Given the description of an element on the screen output the (x, y) to click on. 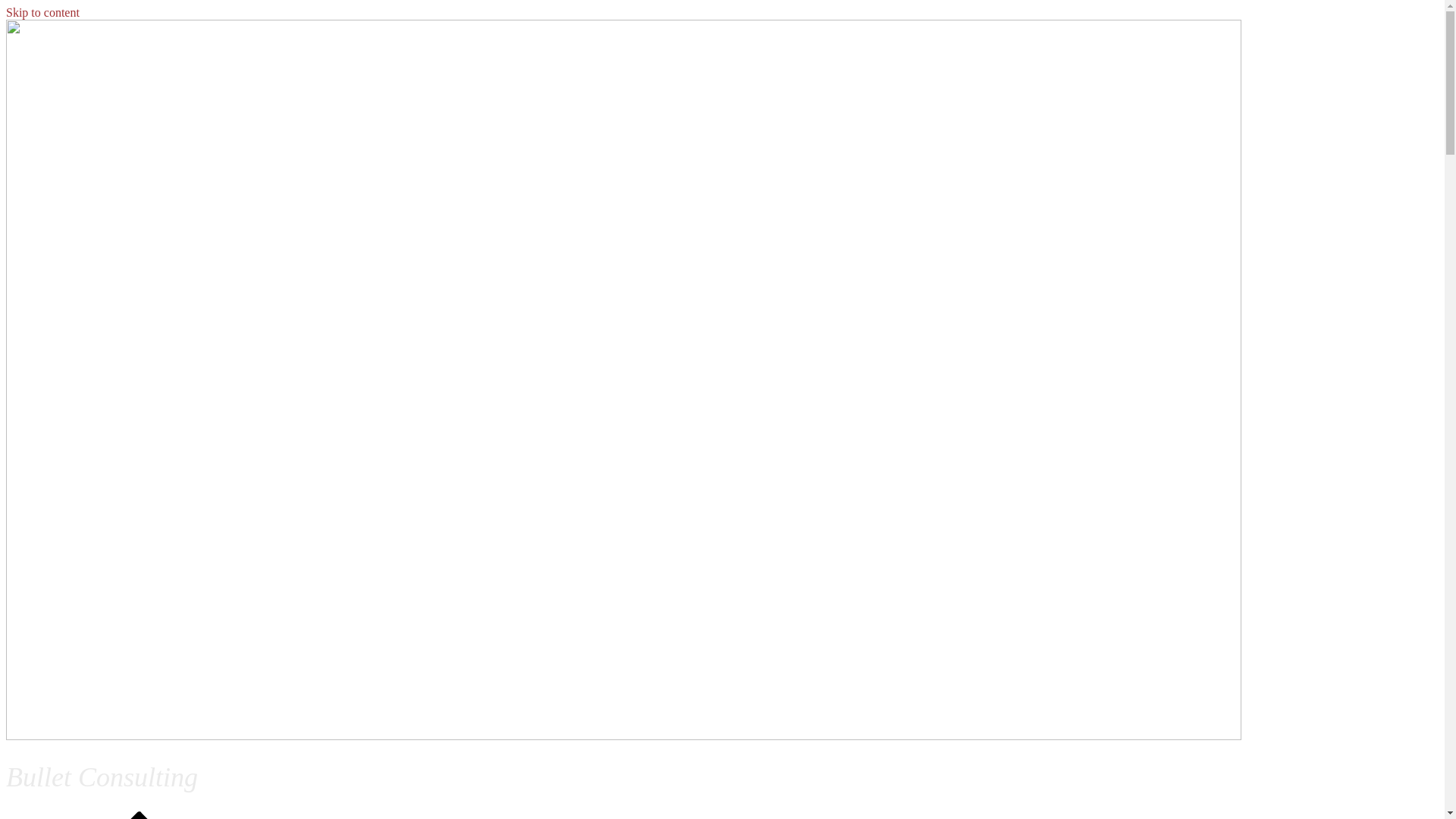
Skip to content Element type: text (42, 12)
Bullet Consulting Element type: text (101, 777)
